Given the description of an element on the screen output the (x, y) to click on. 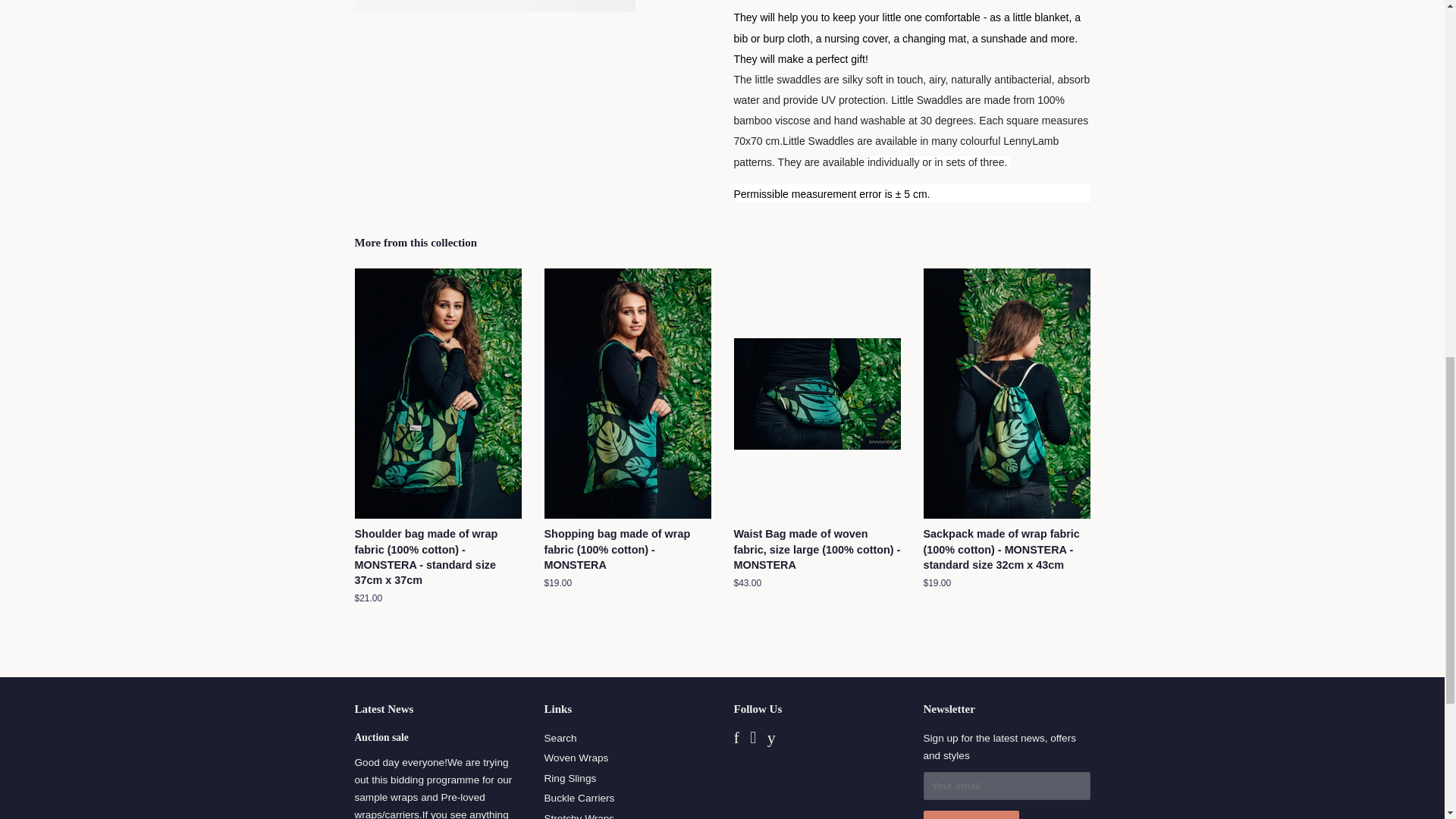
Wear Weave Love on Instagram (752, 739)
Wear Weave Love on Facebook (736, 739)
Wear Weave Love on YouTube (771, 739)
Subscribe (971, 814)
